Given the description of an element on the screen output the (x, y) to click on. 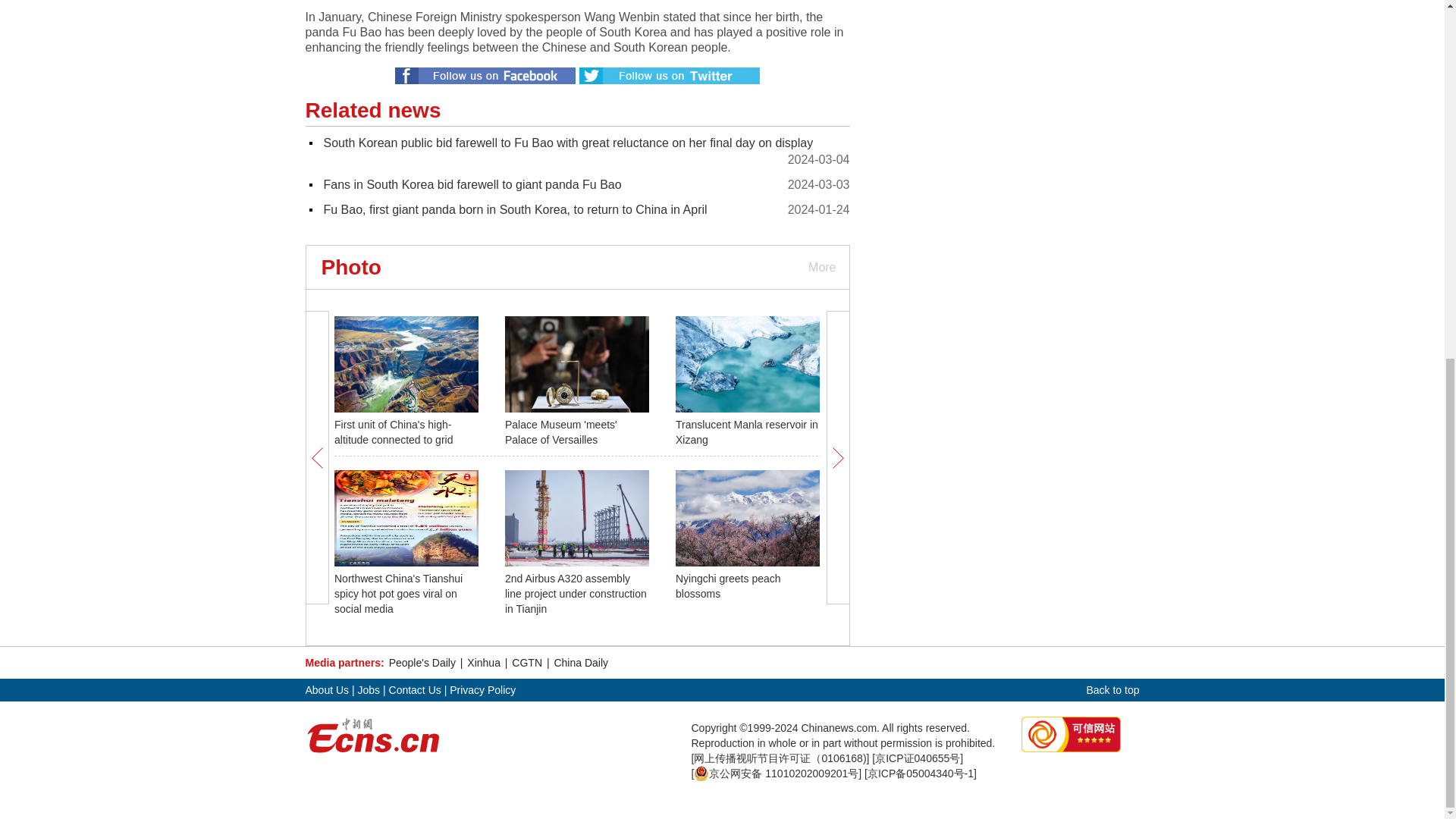
Translucent Manla reservoir in Xizang (746, 431)
Fans in South Korea bid farewell to giant panda Fu Bao (472, 184)
Nyingchi greets peach blossoms (727, 585)
First unit of China's high-altitude connected to grid (393, 431)
Palace Museum 'meets' Palace of Versailles (561, 431)
